Given the description of an element on the screen output the (x, y) to click on. 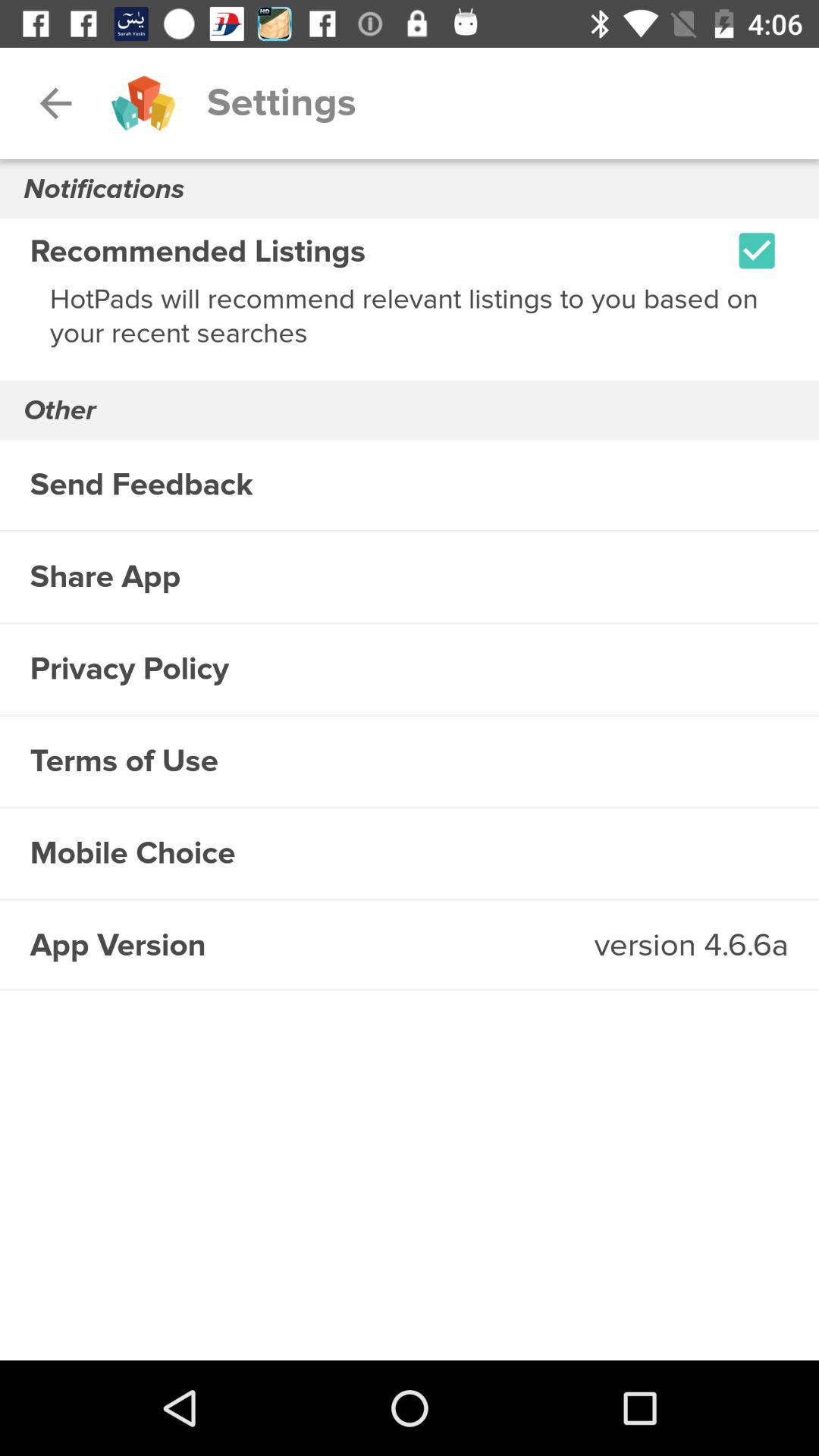
tap the item below other icon (409, 485)
